Given the description of an element on the screen output the (x, y) to click on. 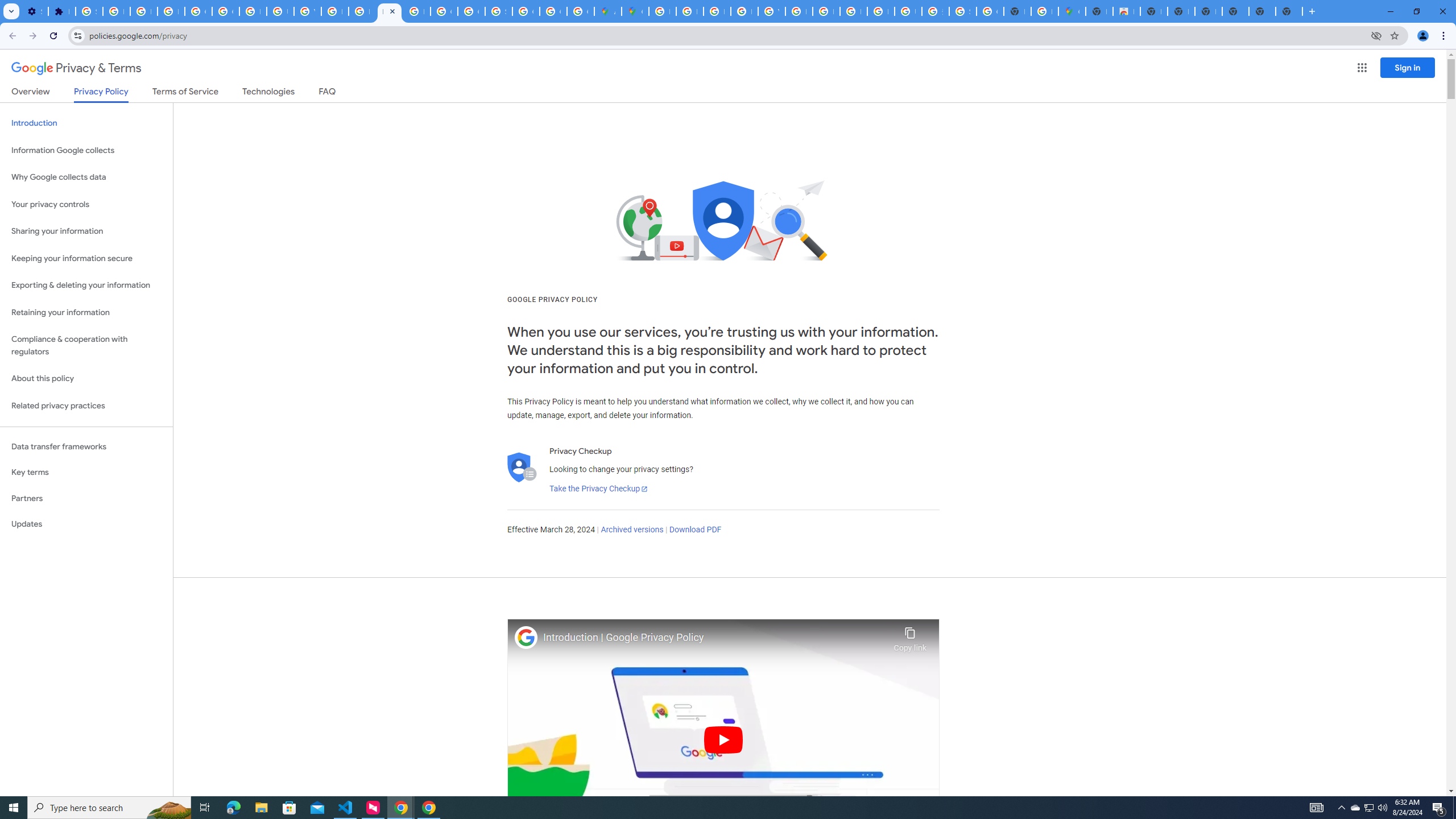
Compliance & cooperation with regulators (86, 345)
Play (723, 739)
Exporting & deleting your information (86, 284)
Explore new street-level details - Google Maps Help (1044, 11)
Your privacy controls (86, 204)
Retaining your information (86, 312)
Keeping your information secure (86, 258)
